Given the description of an element on the screen output the (x, y) to click on. 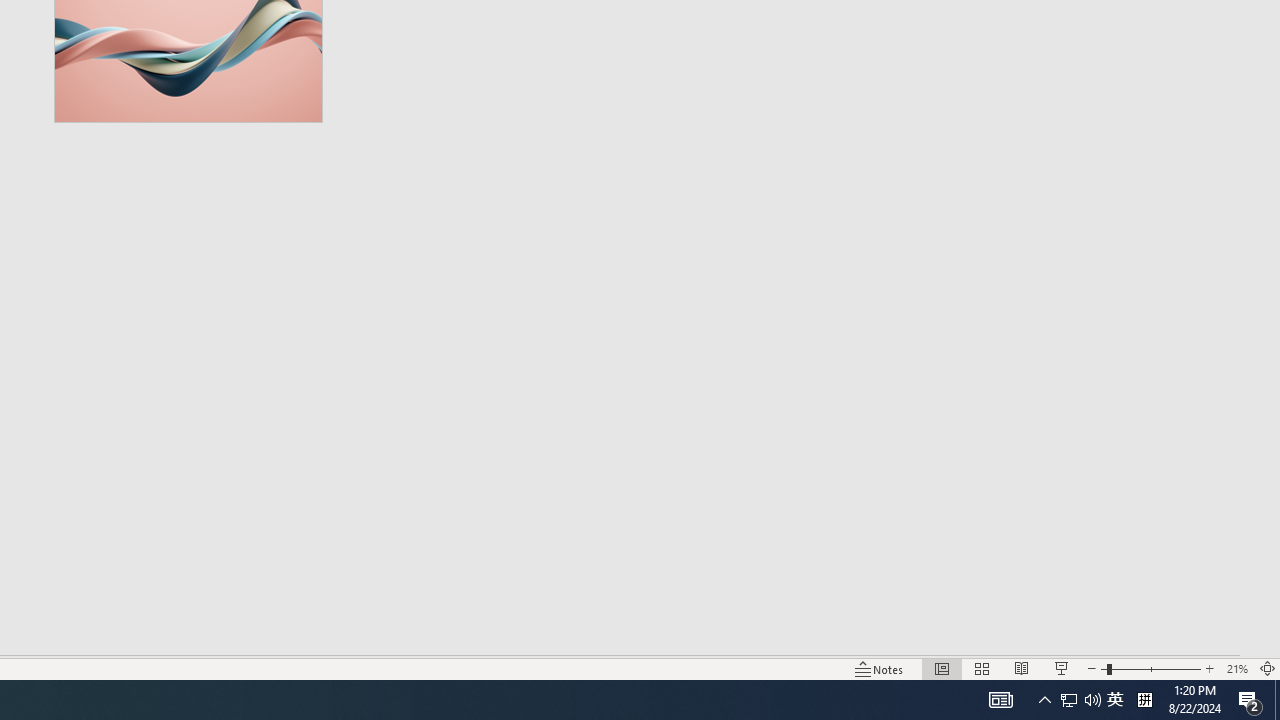
Zoom 21% (1236, 668)
